Given the description of an element on the screen output the (x, y) to click on. 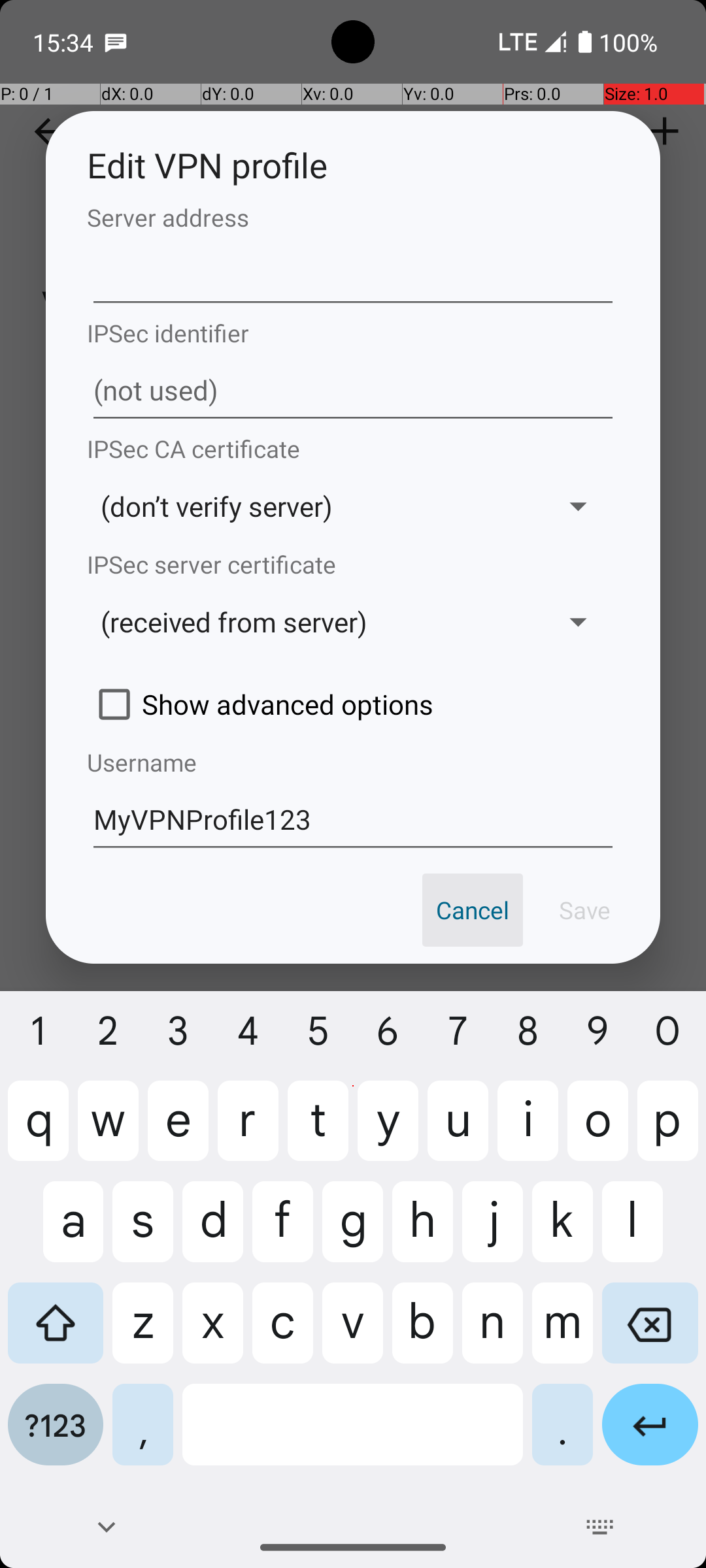
Edit VPN profile Element type: android.widget.TextView (352, 164)
Server address Element type: android.widget.TextView (352, 216)
IPSec identifier Element type: android.widget.TextView (352, 332)
(not used) Element type: android.widget.EditText (352, 390)
IPSec CA certificate Element type: android.widget.TextView (352, 448)
IPSec server certificate Element type: android.widget.TextView (352, 563)
Show advanced options Element type: android.widget.CheckBox (352, 704)
Username Element type: android.widget.TextView (352, 761)
MyVPNProfile123 Element type: android.widget.EditText (352, 817)
(don’t verify server) Element type: android.widget.TextView (311, 505)
(received from server) Element type: android.widget.TextView (311, 621)
